Given the description of an element on the screen output the (x, y) to click on. 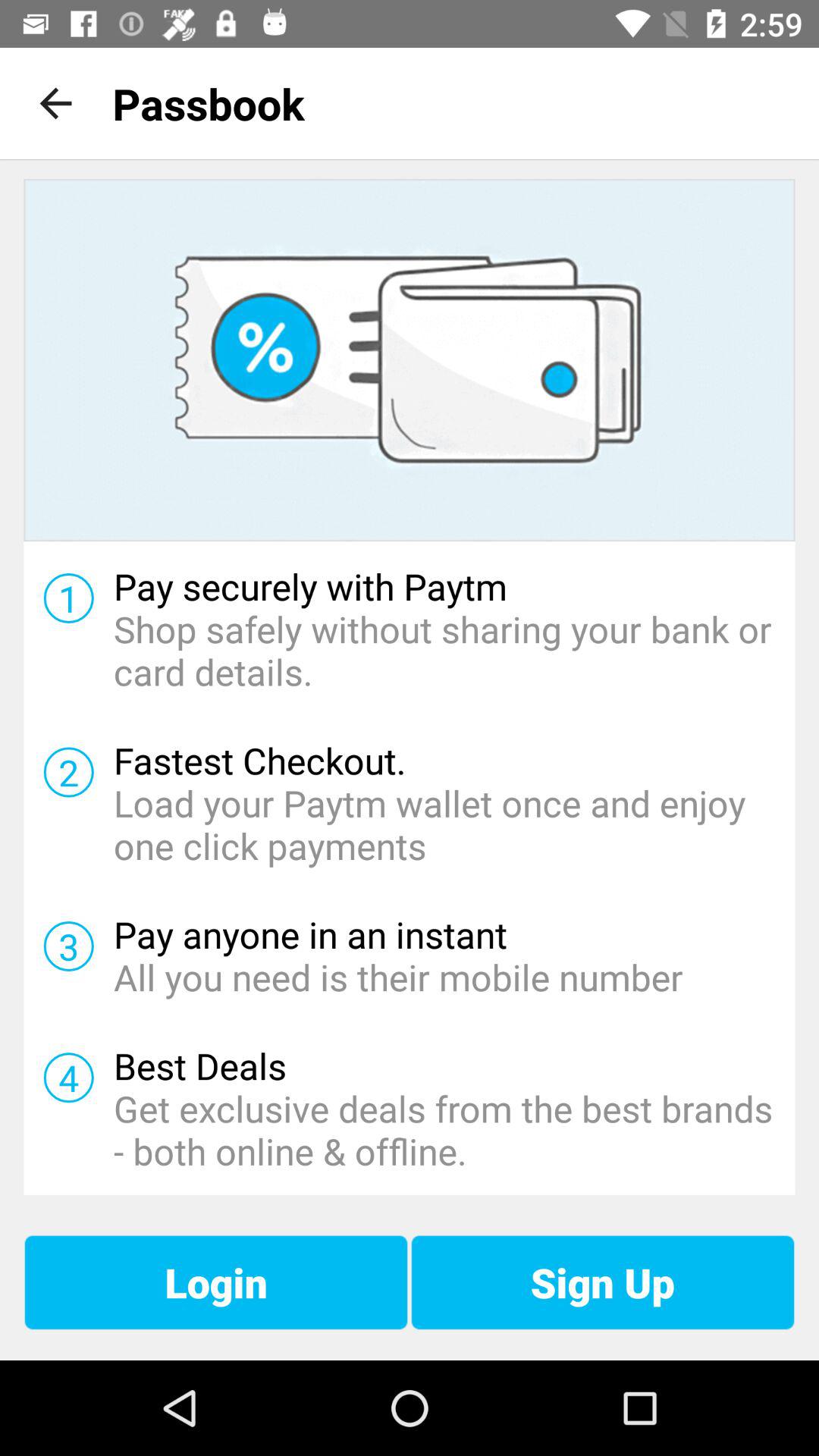
launch icon next to the sign up icon (215, 1282)
